Given the description of an element on the screen output the (x, y) to click on. 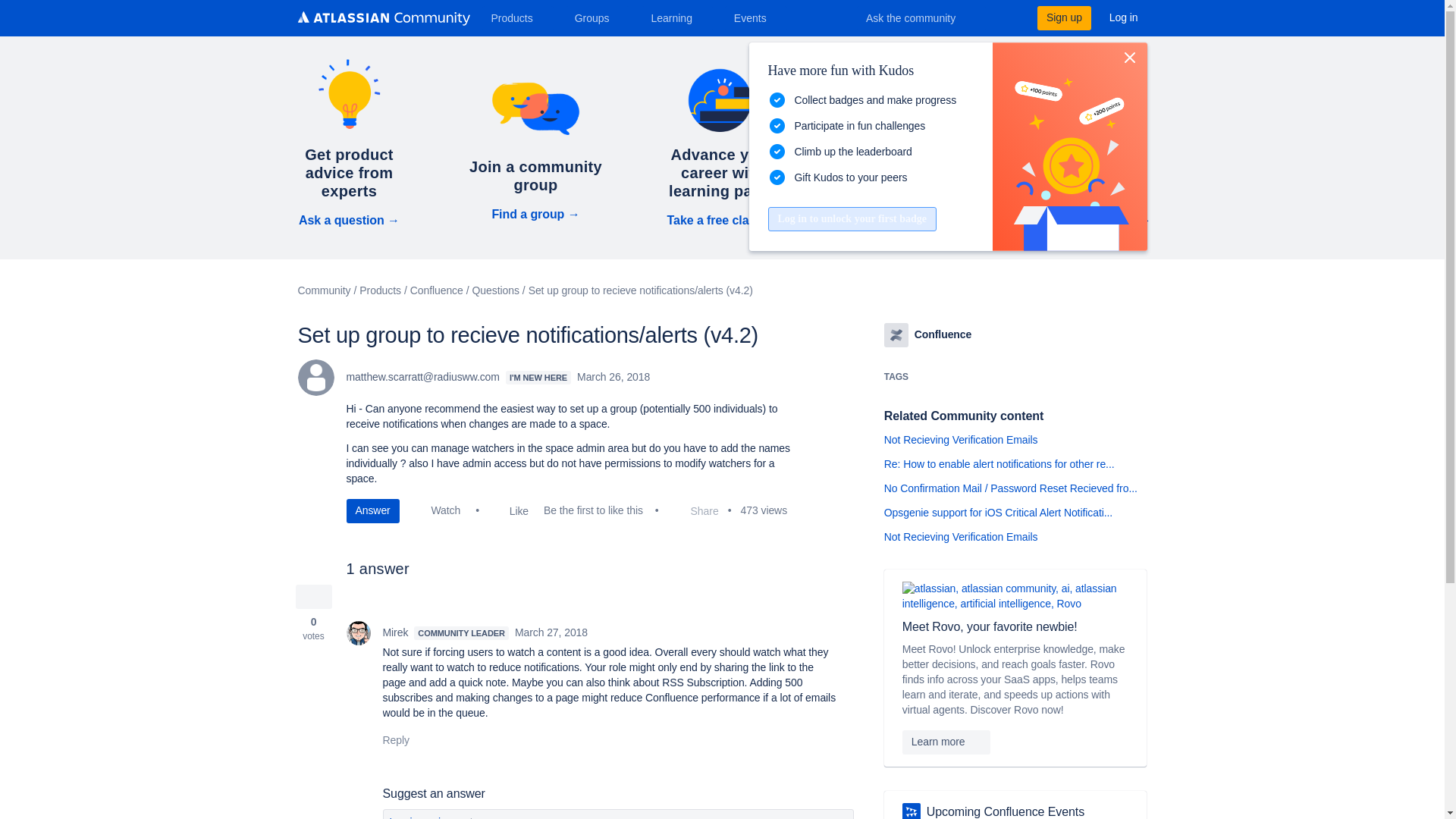
Sign up (1063, 17)
Groups (598, 17)
Mirek (357, 632)
Log in to unlock your first badge (851, 218)
Learning (676, 17)
Atlassian Community logo (382, 19)
Confluence (895, 334)
Ask the community  (921, 17)
Events (756, 17)
Log in (1123, 17)
